Given the description of an element on the screen output the (x, y) to click on. 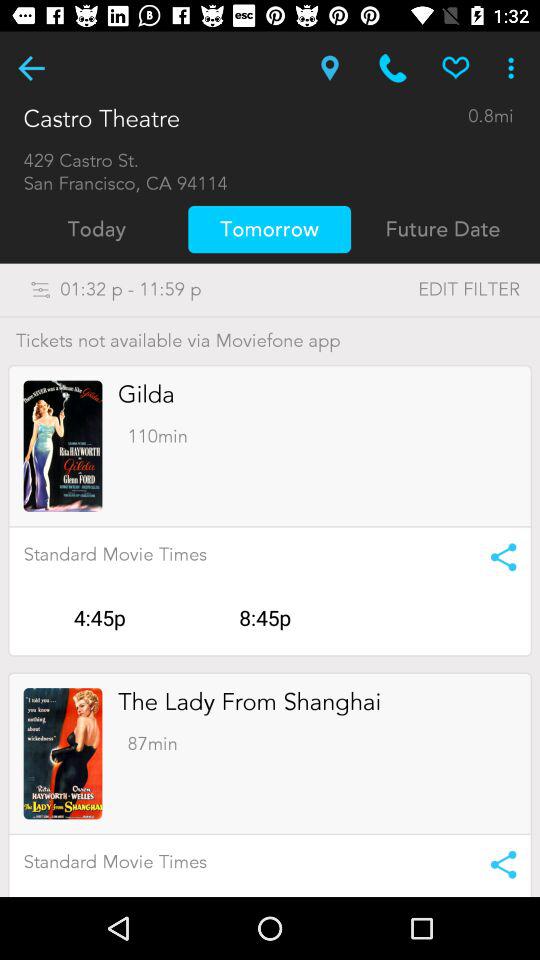
go back (31, 67)
